Given the description of an element on the screen output the (x, y) to click on. 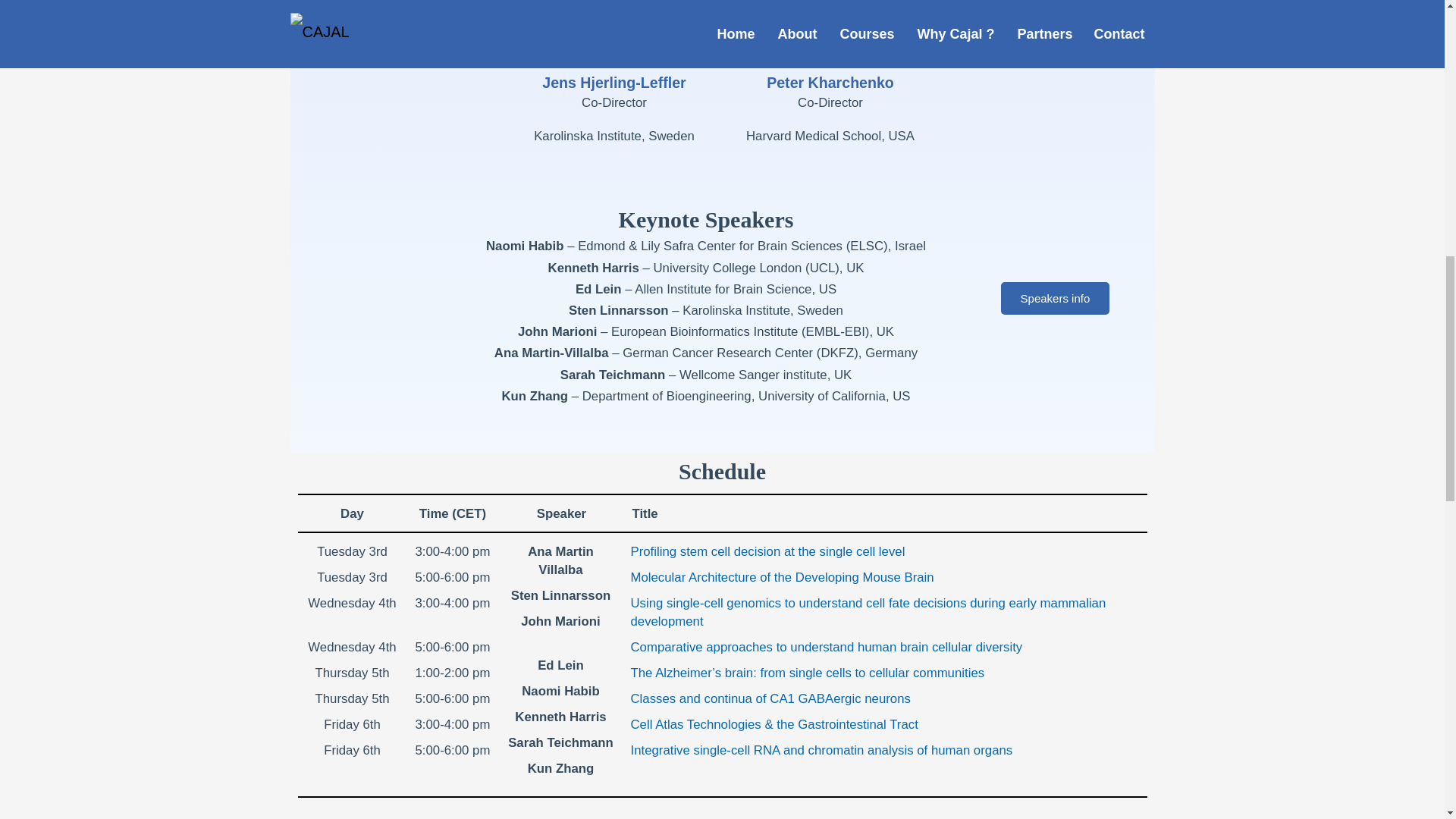
Page 7 (706, 385)
Page 7 (829, 136)
Speakers info (1055, 297)
Page 7 (613, 136)
Page 7 (706, 219)
